Given the description of an element on the screen output the (x, y) to click on. 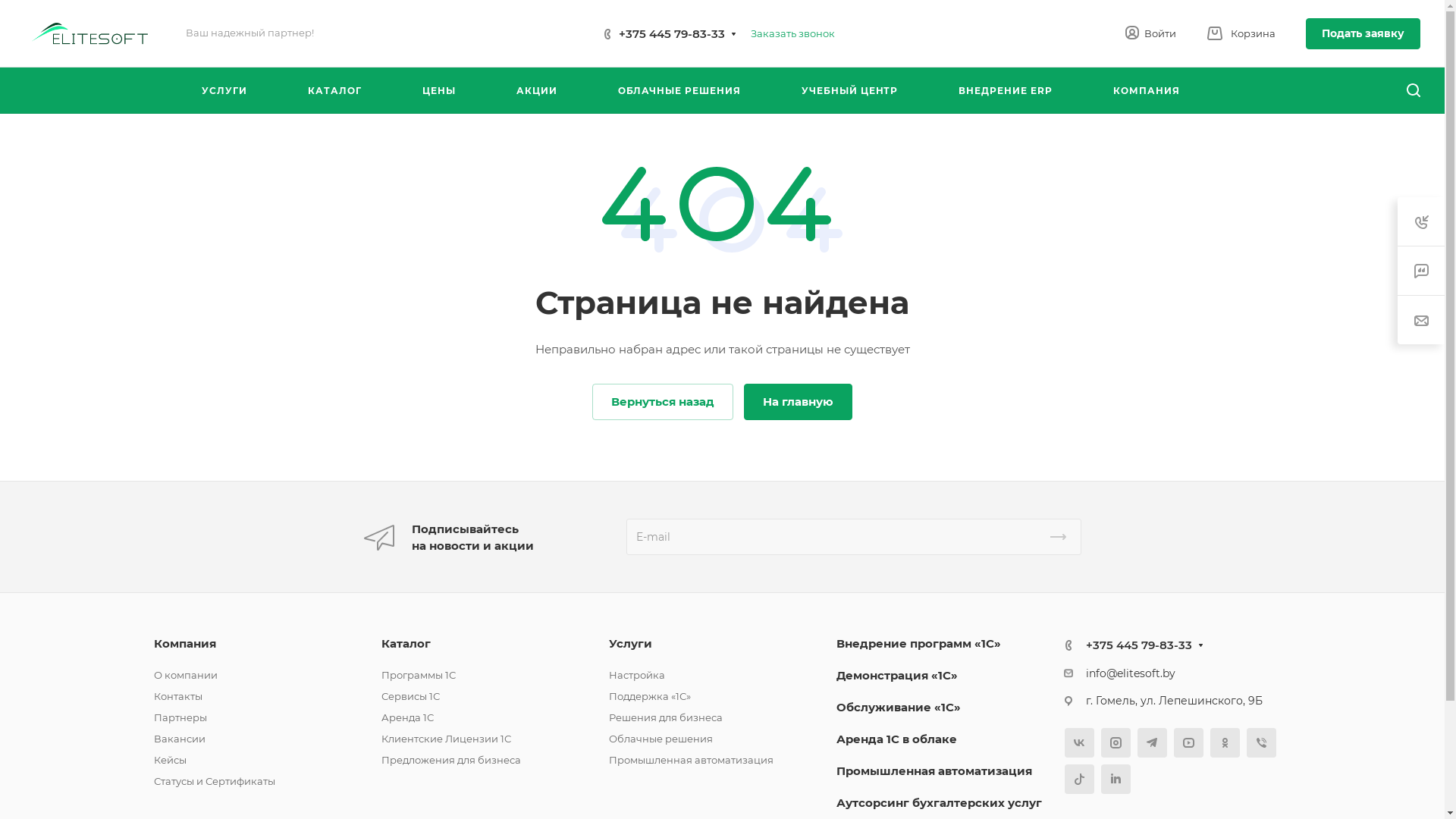
Telegram Element type: hover (1152, 742)
YouTube Element type: hover (1188, 742)
Instagram Element type: hover (1115, 742)
TikTok Element type: hover (1079, 778)
Viber Element type: hover (1261, 742)
+375 445 79-83-33 Element type: text (671, 33)
LinkedIn Element type: hover (1115, 778)
info@elitesoft.by Element type: text (1130, 673)
+375 445 79-83-33 Element type: text (1138, 644)
